Given the description of an element on the screen output the (x, y) to click on. 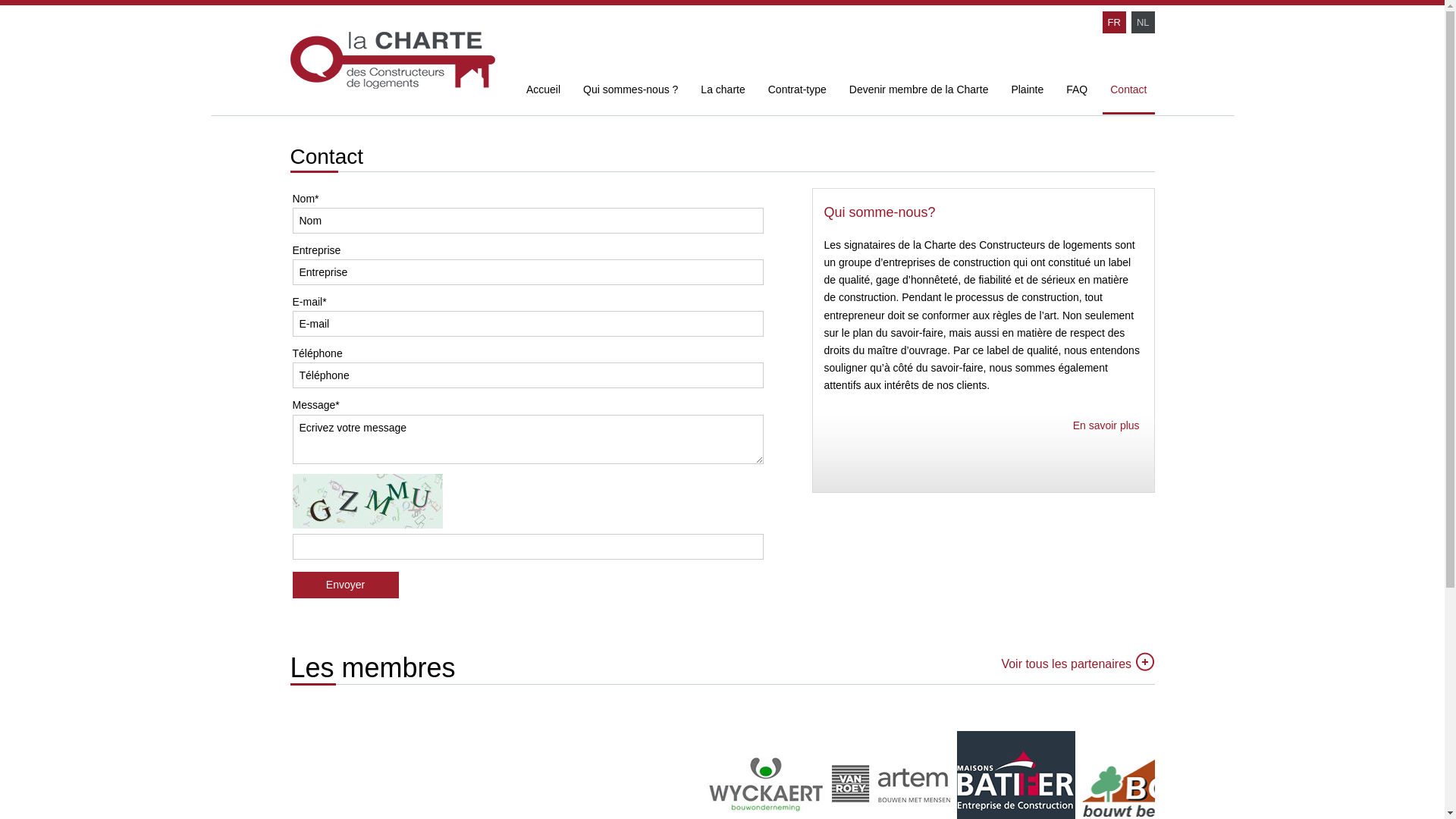
Contact Element type: text (1128, 90)
FAQ Element type: text (1076, 90)
FR Element type: text (1114, 22)
Qui sommes-nous ? Element type: text (630, 90)
La charte Element type: text (722, 90)
Devenir membre de la Charte Element type: text (918, 90)
Contrat-type Element type: text (797, 90)
NL Element type: text (1142, 22)
No Bots allowed Element type: hover (367, 500)
Envoyer Element type: text (345, 584)
Plainte Element type: text (1027, 90)
Voir tous les partenaires Element type: text (1066, 663)
Accueil Element type: text (542, 90)
En savoir plus Element type: text (1106, 425)
